Given the description of an element on the screen output the (x, y) to click on. 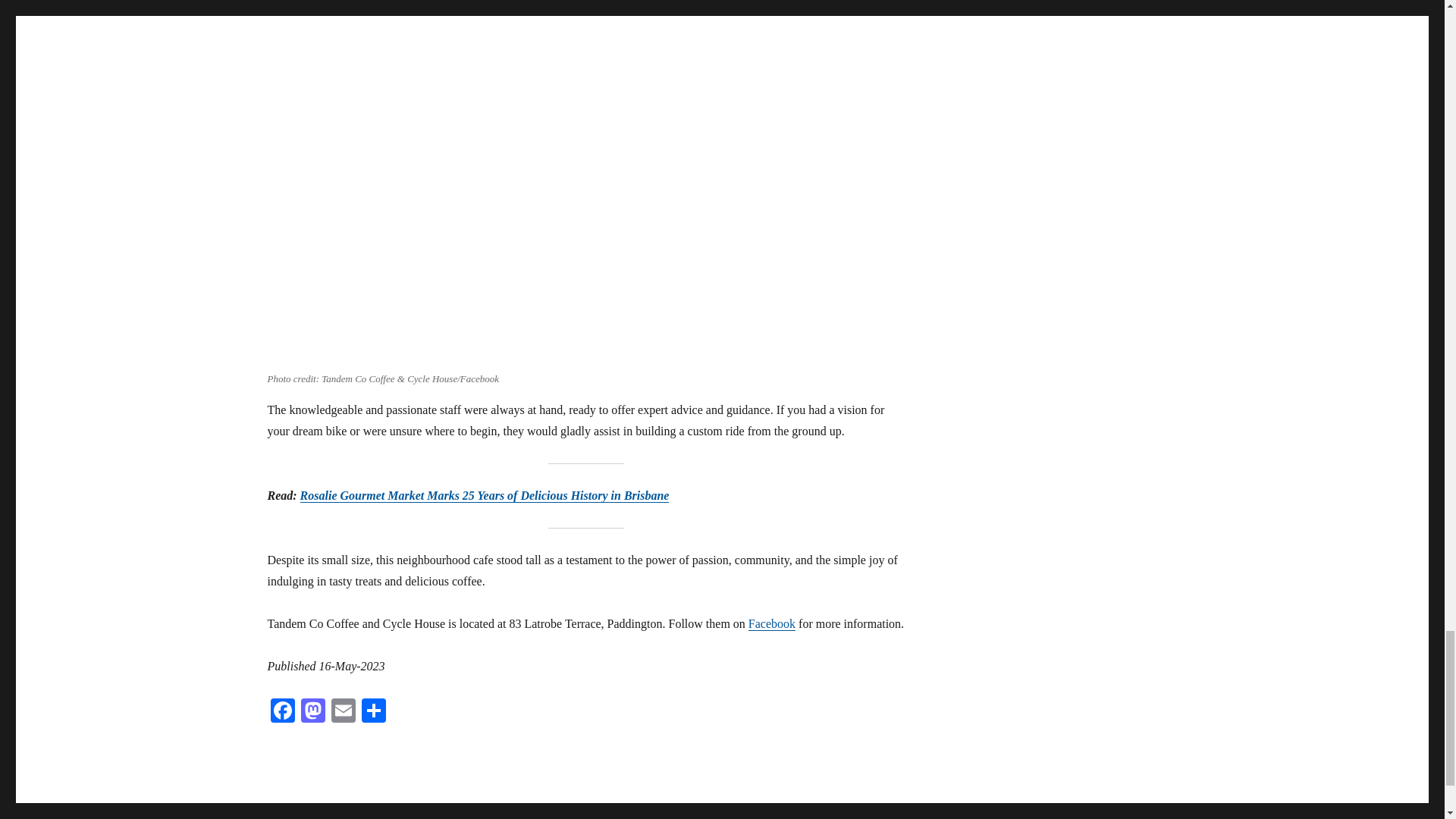
Facebook (281, 712)
Facebook (281, 712)
Facebook (771, 623)
Mastodon (312, 712)
Email (342, 712)
Mastodon (312, 712)
Email (342, 712)
